Given the description of an element on the screen output the (x, y) to click on. 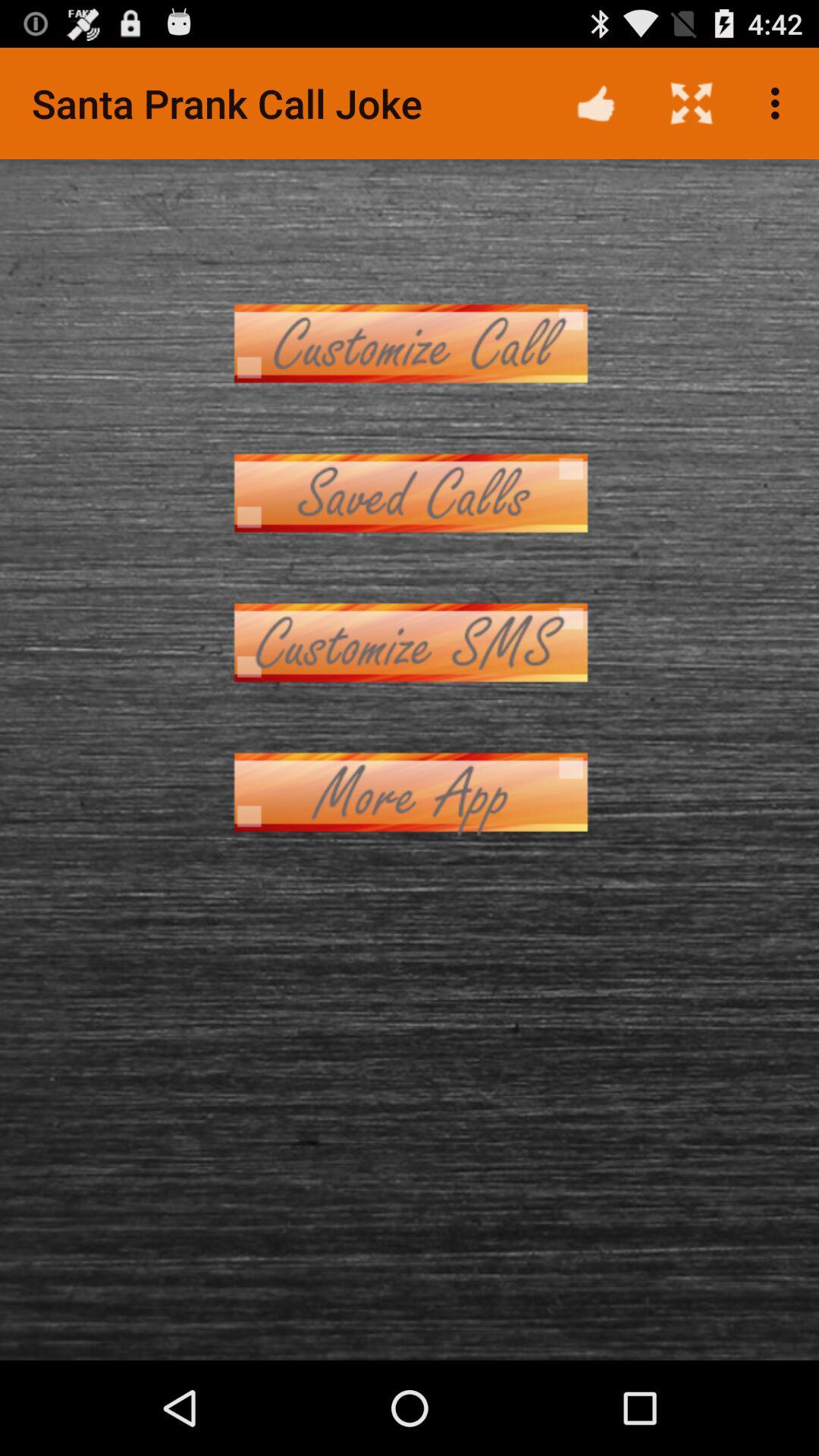
turn on the icon next to the santa prank call item (595, 103)
